Given the description of an element on the screen output the (x, y) to click on. 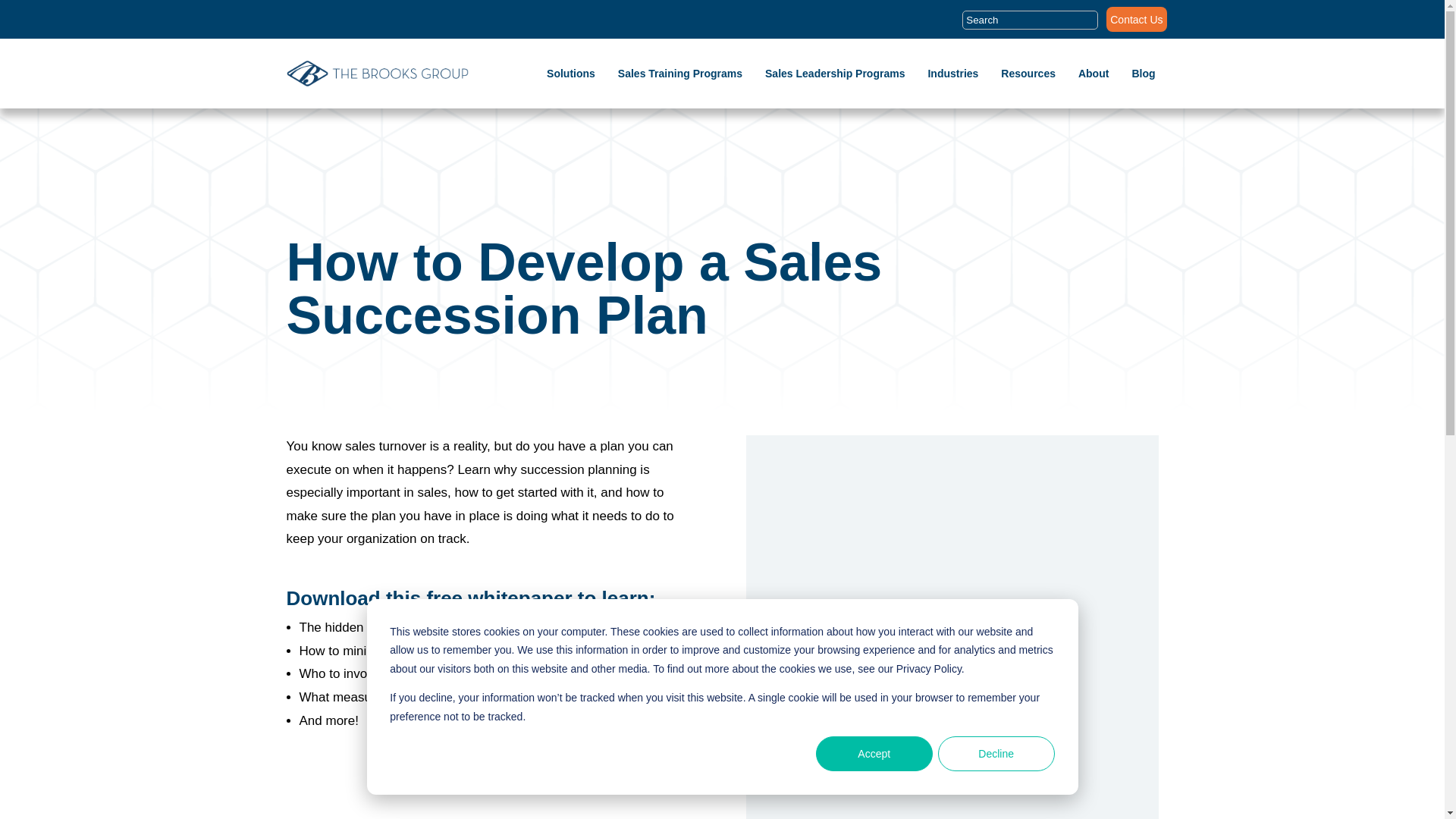
Form 0 (951, 646)
Search for: (1029, 25)
Sales Training Programs (679, 73)
Contact Us (1135, 22)
Sales Leadership Programs (834, 73)
